Given the description of an element on the screen output the (x, y) to click on. 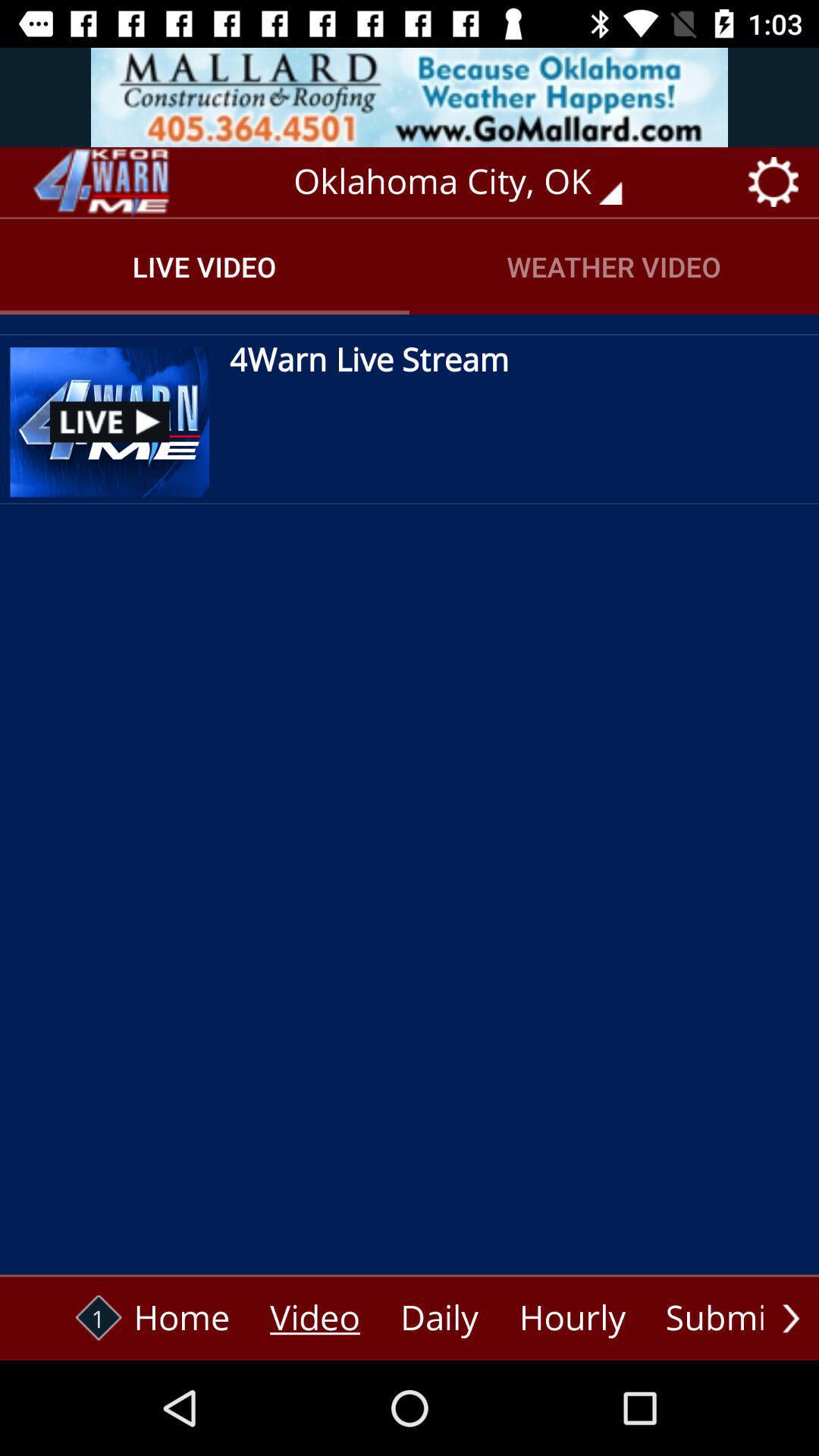
launch oklahoma city, ok (468, 182)
